Given the description of an element on the screen output the (x, y) to click on. 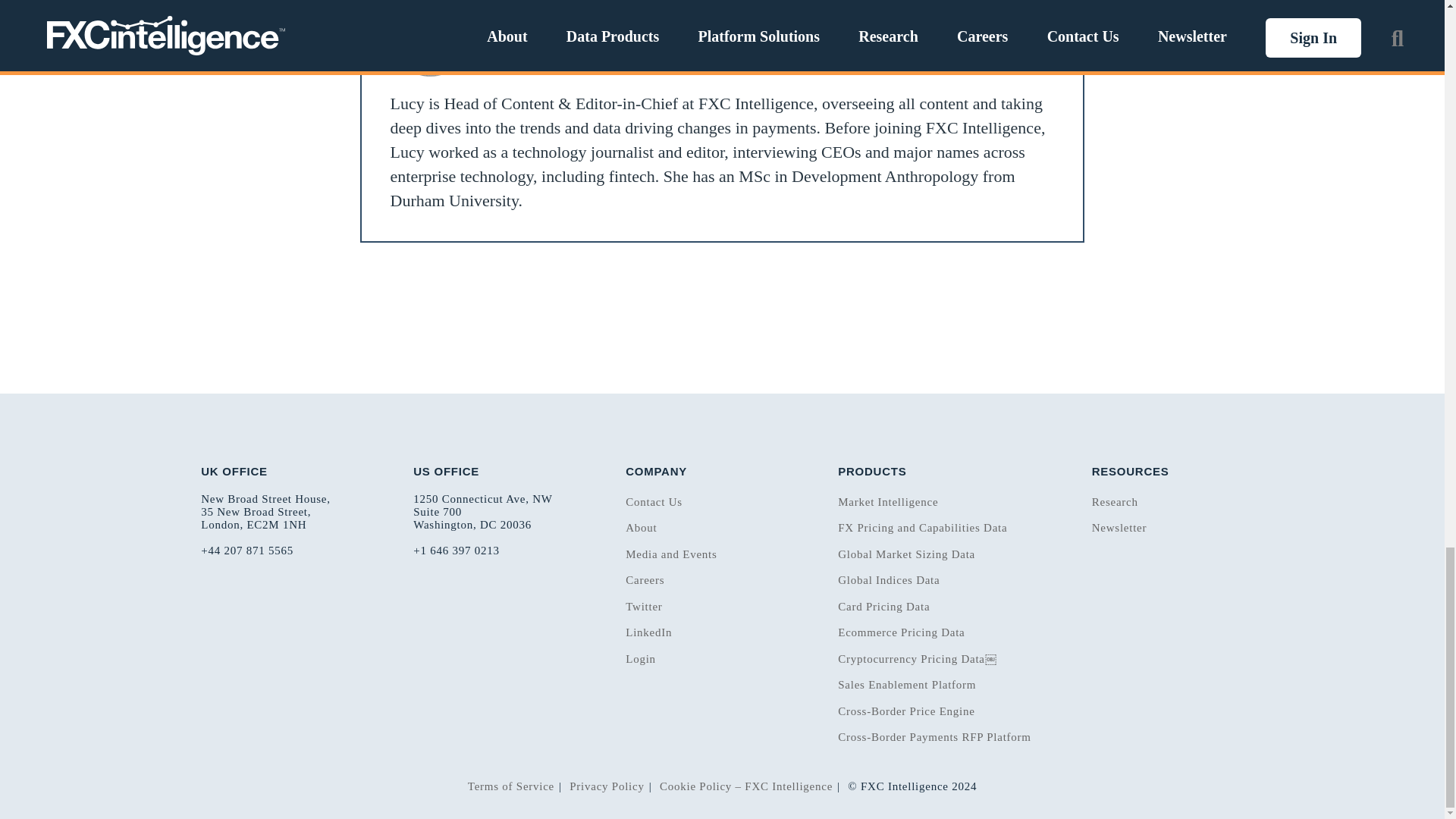
Media and Events (671, 553)
About (641, 527)
LinkedIn (963, 34)
Contact Us (654, 501)
Lucy Ingham (543, 36)
LinkedIn (1019, 43)
